Given the description of an element on the screen output the (x, y) to click on. 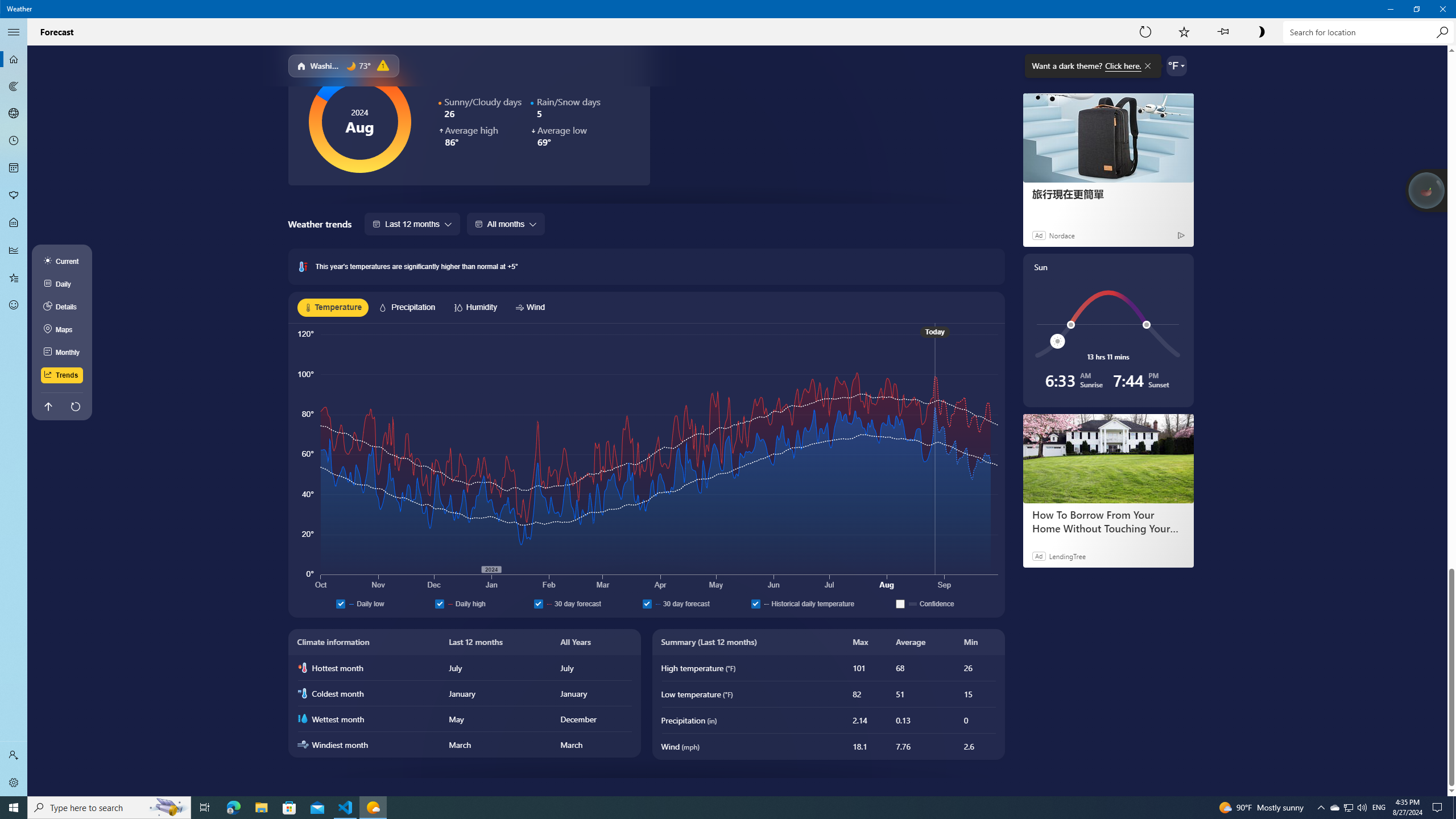
Microsoft Store (289, 807)
Pollen - Not Selected (13, 195)
Running applications (706, 807)
Maps - Not Selected (13, 85)
Historical Weather - Not Selected (13, 249)
3D Maps - Not Selected (13, 113)
Restore Weather (1416, 9)
Search (1442, 31)
Action Center, No new notifications (1439, 807)
Historical Weather - Not Selected (13, 249)
Notification Chevron (1320, 807)
Life - Not Selected (13, 222)
Q2790: 100% (1333, 807)
